Given the description of an element on the screen output the (x, y) to click on. 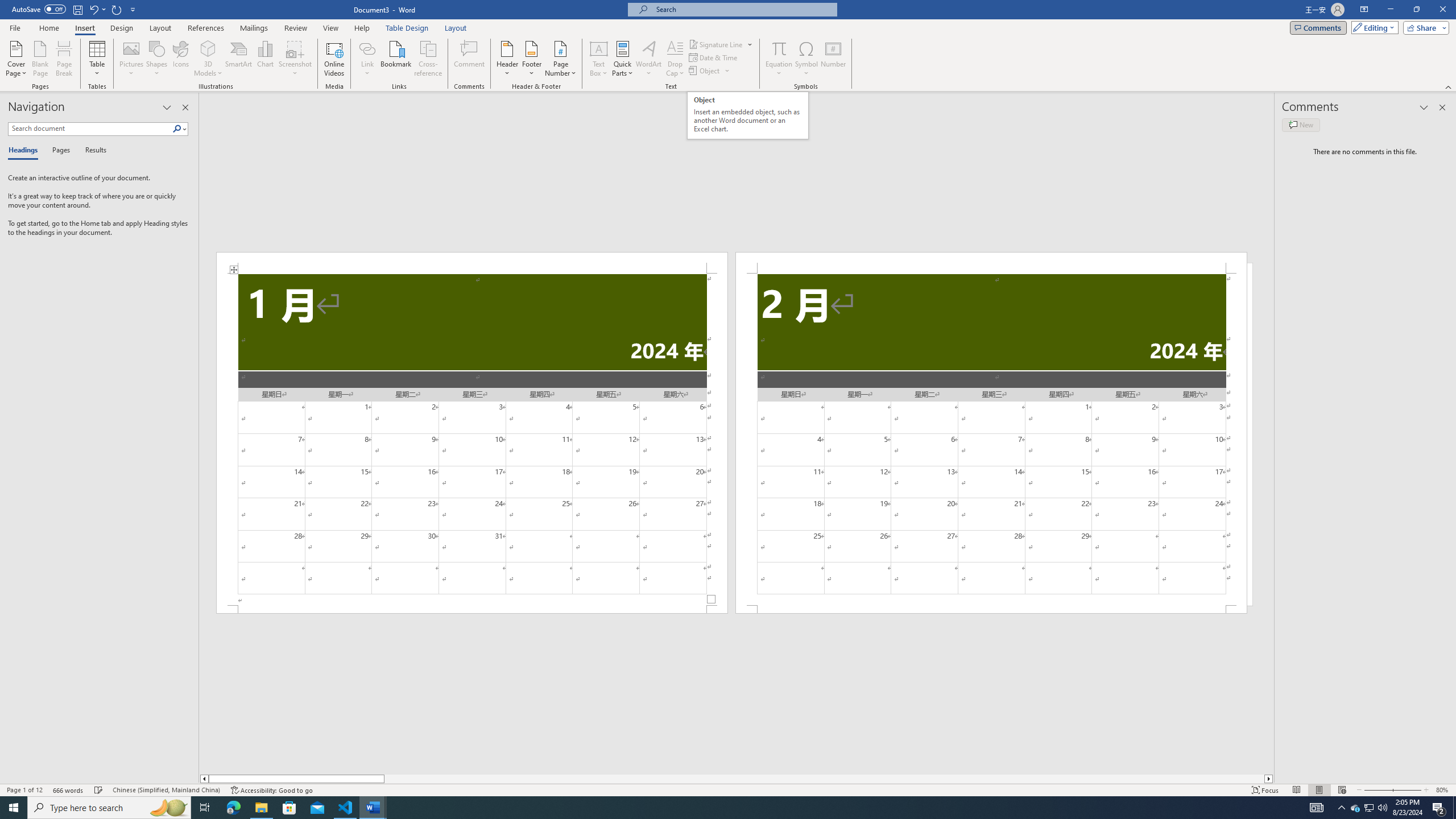
Page Number Page 1 of 12 (24, 790)
SmartArt... (238, 58)
Online Videos... (333, 58)
Column left (203, 778)
Microsoft search (742, 9)
